Given the description of an element on the screen output the (x, y) to click on. 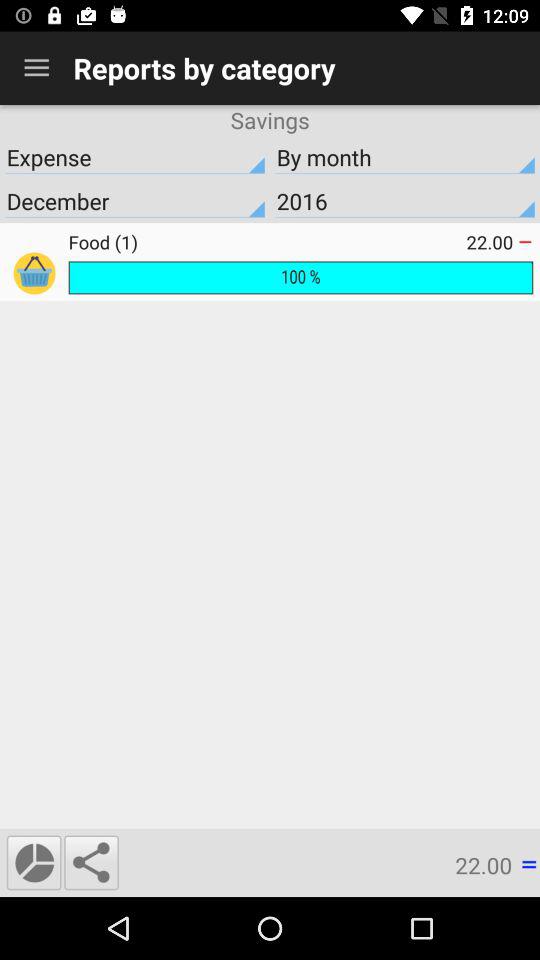
press item below the expense icon (405, 201)
